Given the description of an element on the screen output the (x, y) to click on. 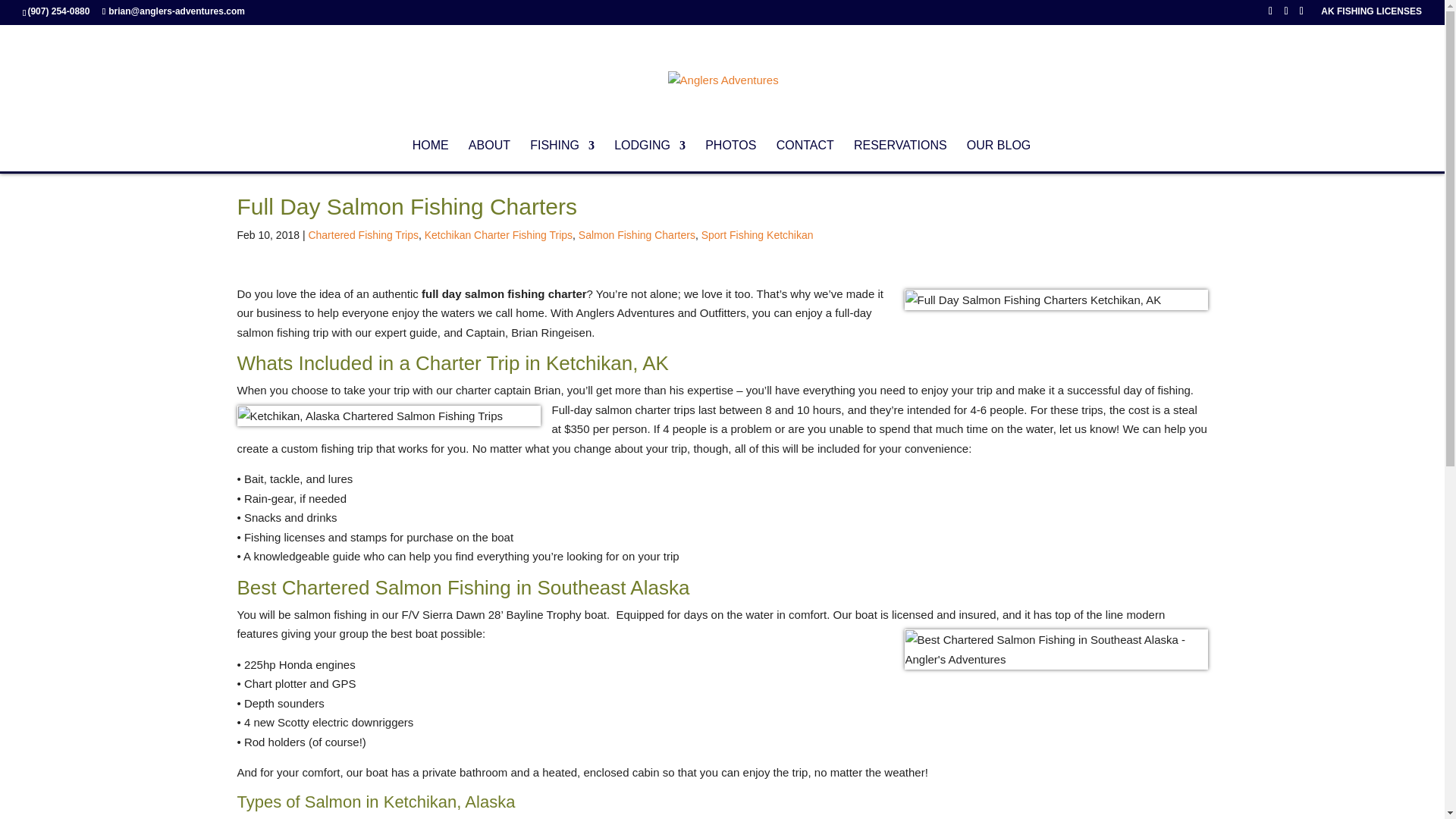
RESERVATIONS (900, 155)
PHOTOS (729, 155)
OUR BLOG (998, 155)
ABOUT (489, 155)
LODGING (649, 155)
HOME (430, 155)
AK FISHING LICENSES (1371, 14)
Ketchikan Charter Fishing Trips (498, 234)
CONTACT (805, 155)
Chartered Fishing Trips (363, 234)
FISHING (561, 155)
Salmon Fishing Charters (636, 234)
Sport Fishing Ketchikan (757, 234)
